Given the description of an element on the screen output the (x, y) to click on. 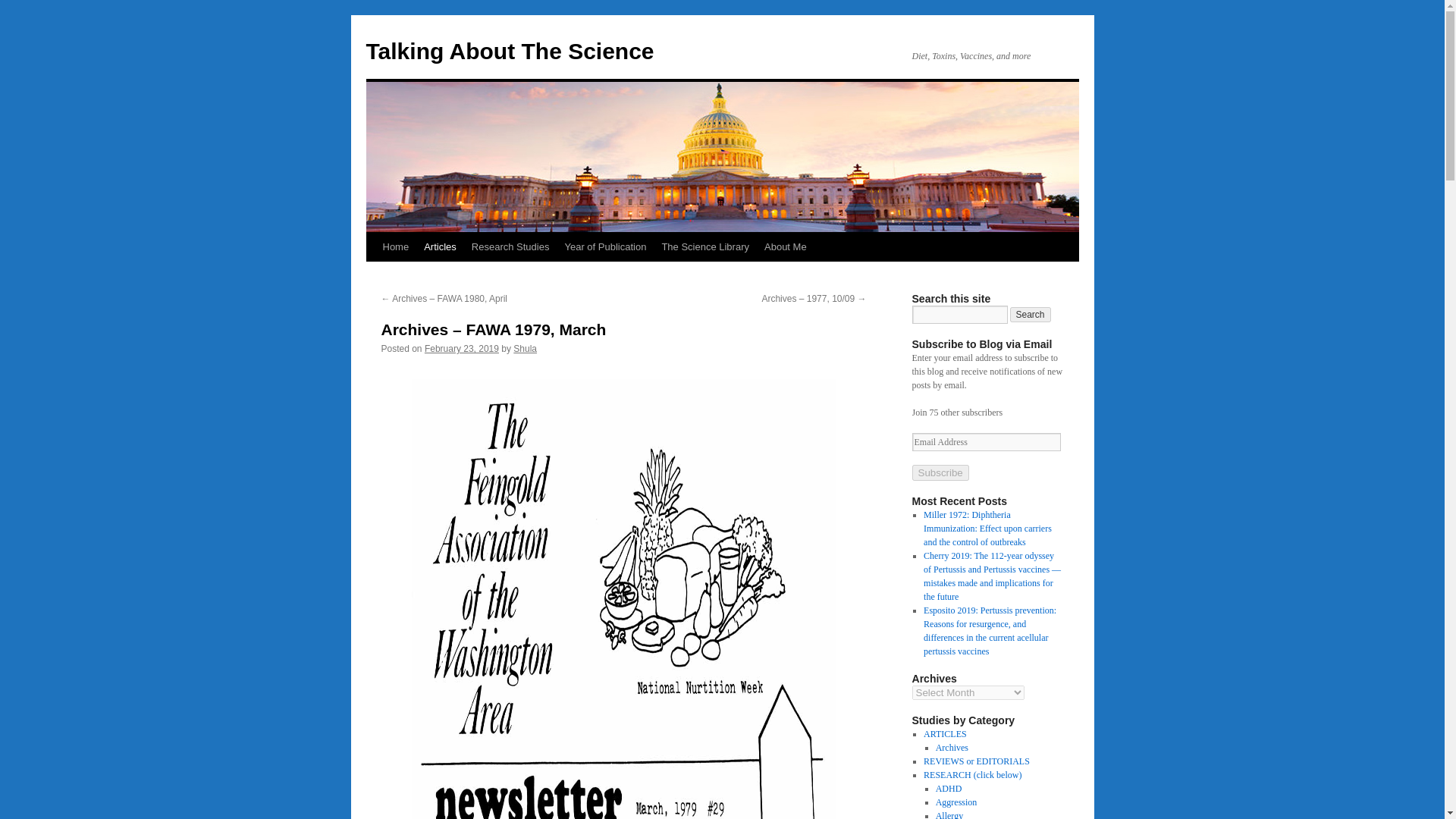
View all posts by Shula (525, 348)
3:00 pm (462, 348)
The Science Library (705, 246)
Home (395, 246)
Talking About The Science (509, 50)
Year of Publication (604, 246)
February 23, 2019 (462, 348)
About Me (785, 246)
Articles (440, 246)
Research Studies (510, 246)
